Given the description of an element on the screen output the (x, y) to click on. 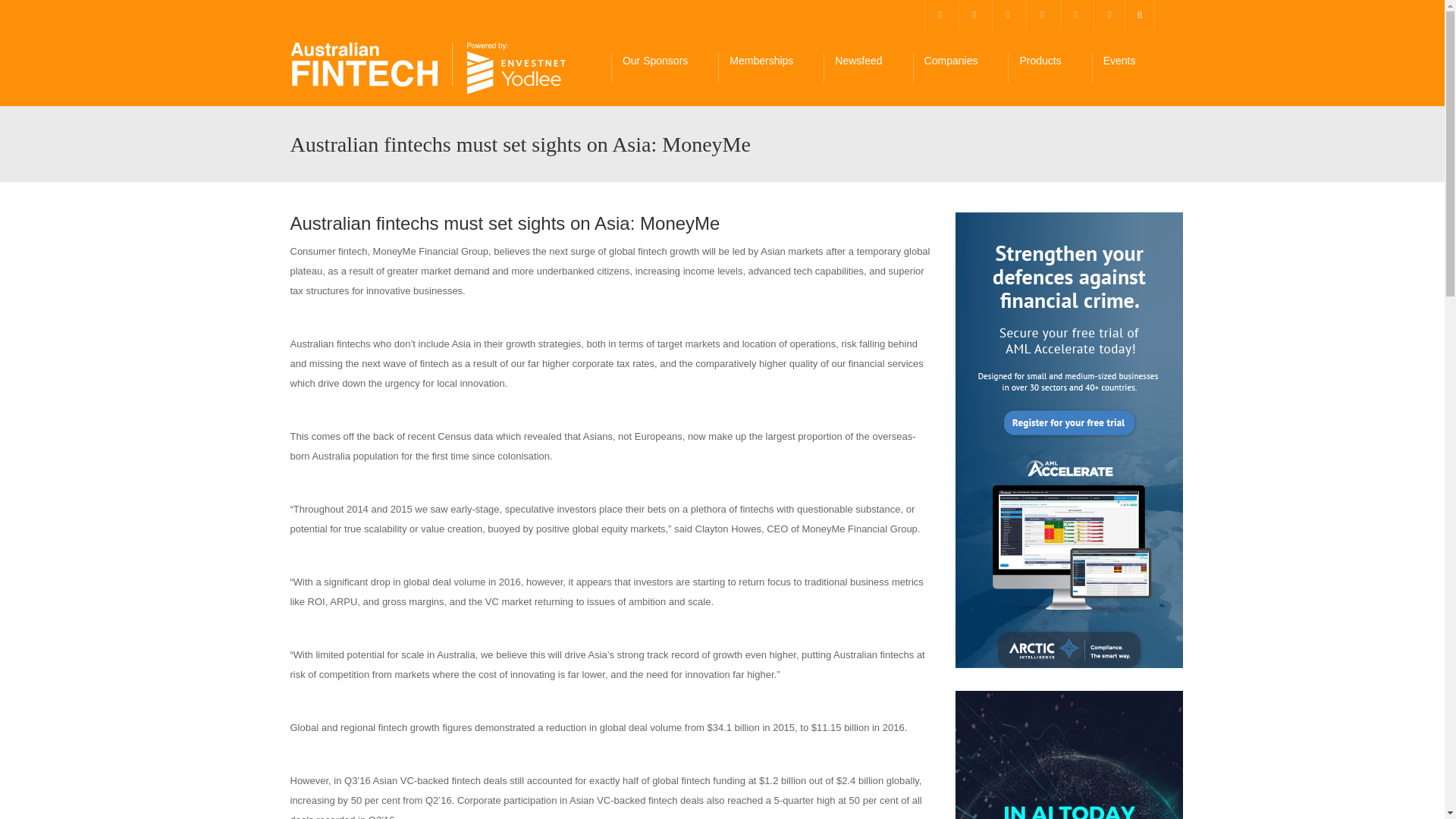
Newsfeed (868, 68)
Companies (960, 68)
Memberships (770, 68)
Events (1129, 68)
Products (1048, 68)
Our Sponsors (664, 68)
Australian fintechs must set sights on Asia: MoneyMe (428, 67)
